Given the description of an element on the screen output the (x, y) to click on. 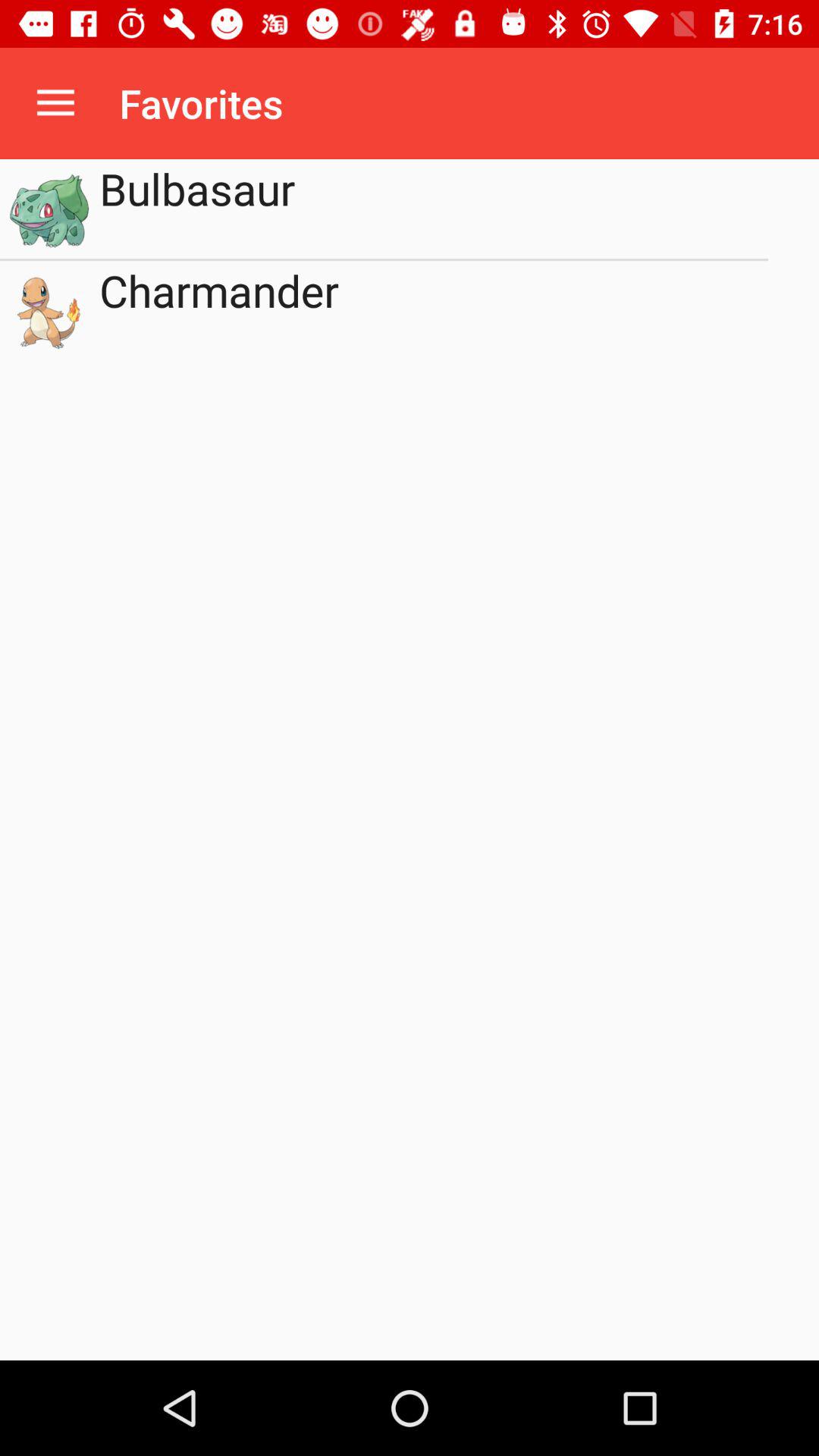
press item to the left of favorites item (55, 103)
